Given the description of an element on the screen output the (x, y) to click on. 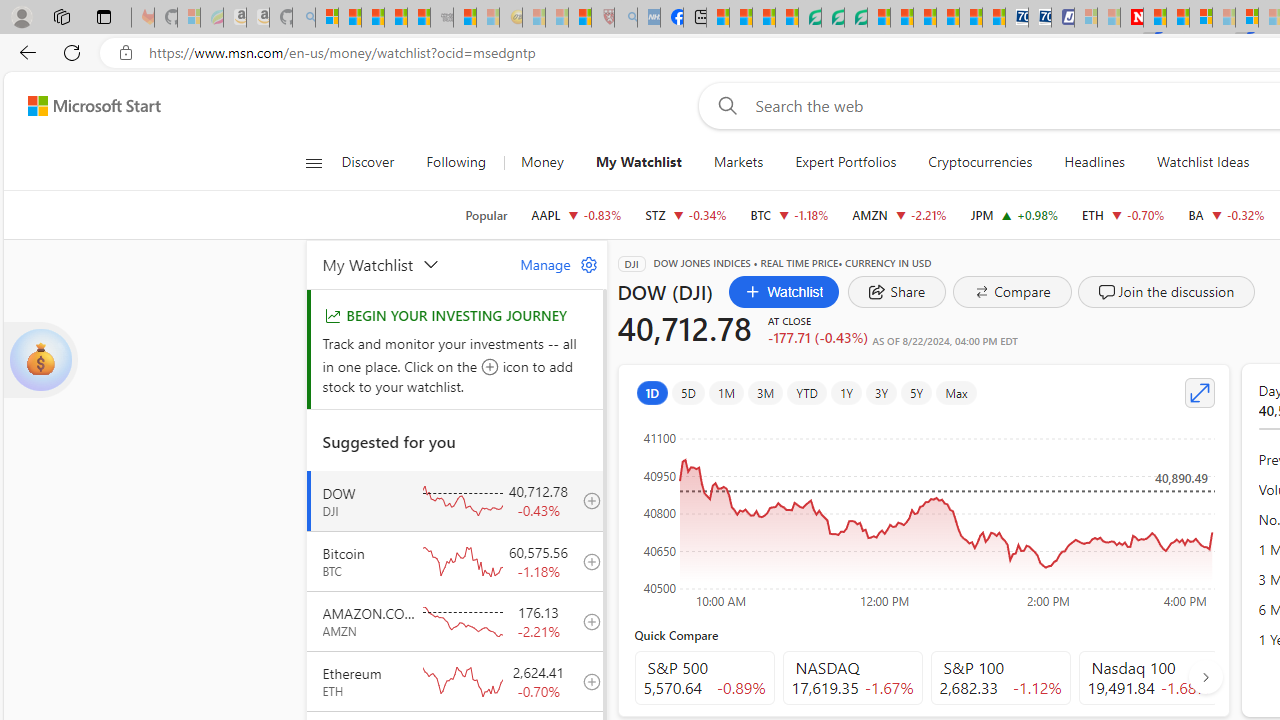
JPM JPMORGAN CHASE & CO. increase 216.71 +2.11 +0.98% (1013, 214)
Watchlist Ideas (1202, 162)
Markets (738, 162)
BTC Bitcoin decrease 60,575.56 -716.61 -1.18% (789, 214)
Popular (486, 215)
